Given the description of an element on the screen output the (x, y) to click on. 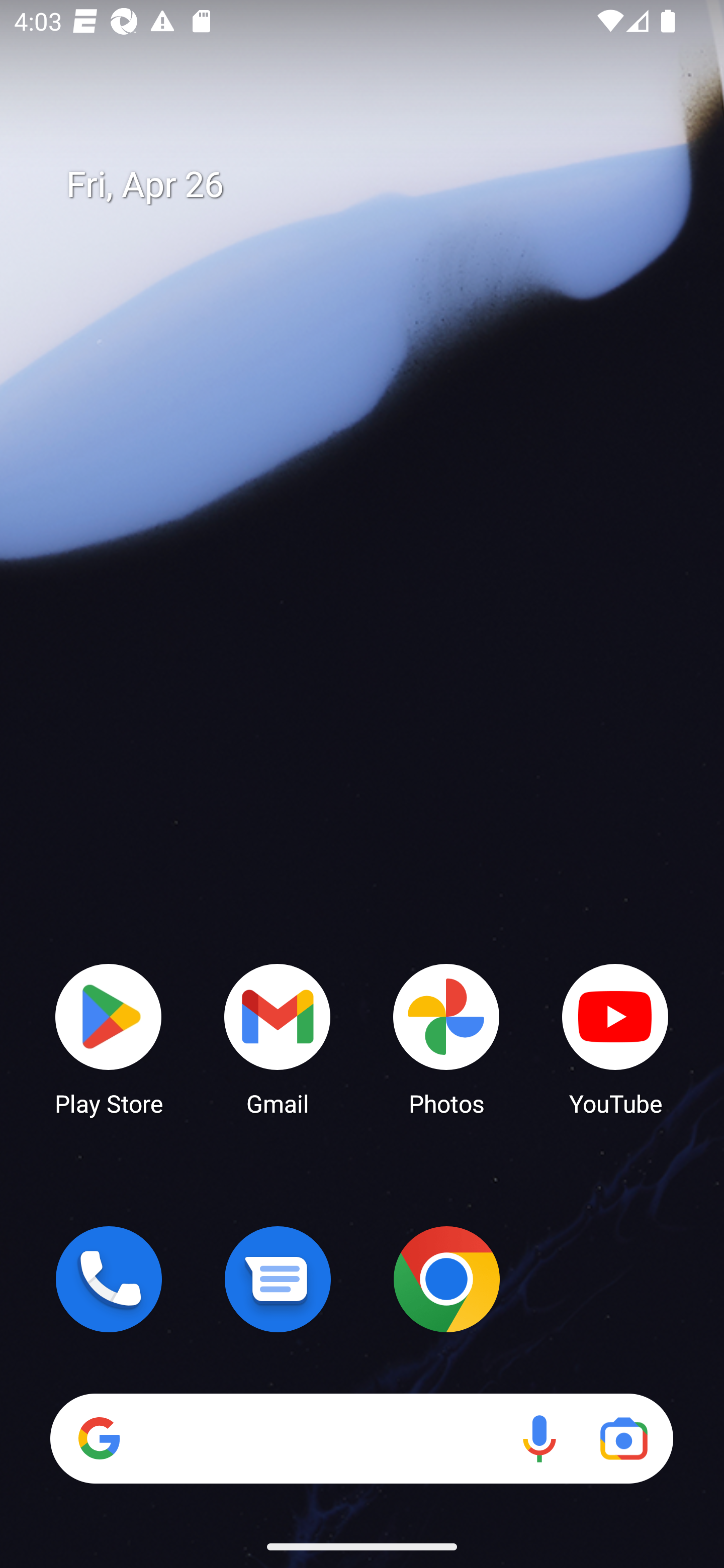
Fri, Apr 26 (375, 184)
Play Store (108, 1038)
Gmail (277, 1038)
Photos (445, 1038)
YouTube (615, 1038)
Phone (108, 1279)
Messages (277, 1279)
Chrome (446, 1279)
Search Voice search Google Lens (361, 1438)
Voice search (539, 1438)
Google Lens (623, 1438)
